Given the description of an element on the screen output the (x, y) to click on. 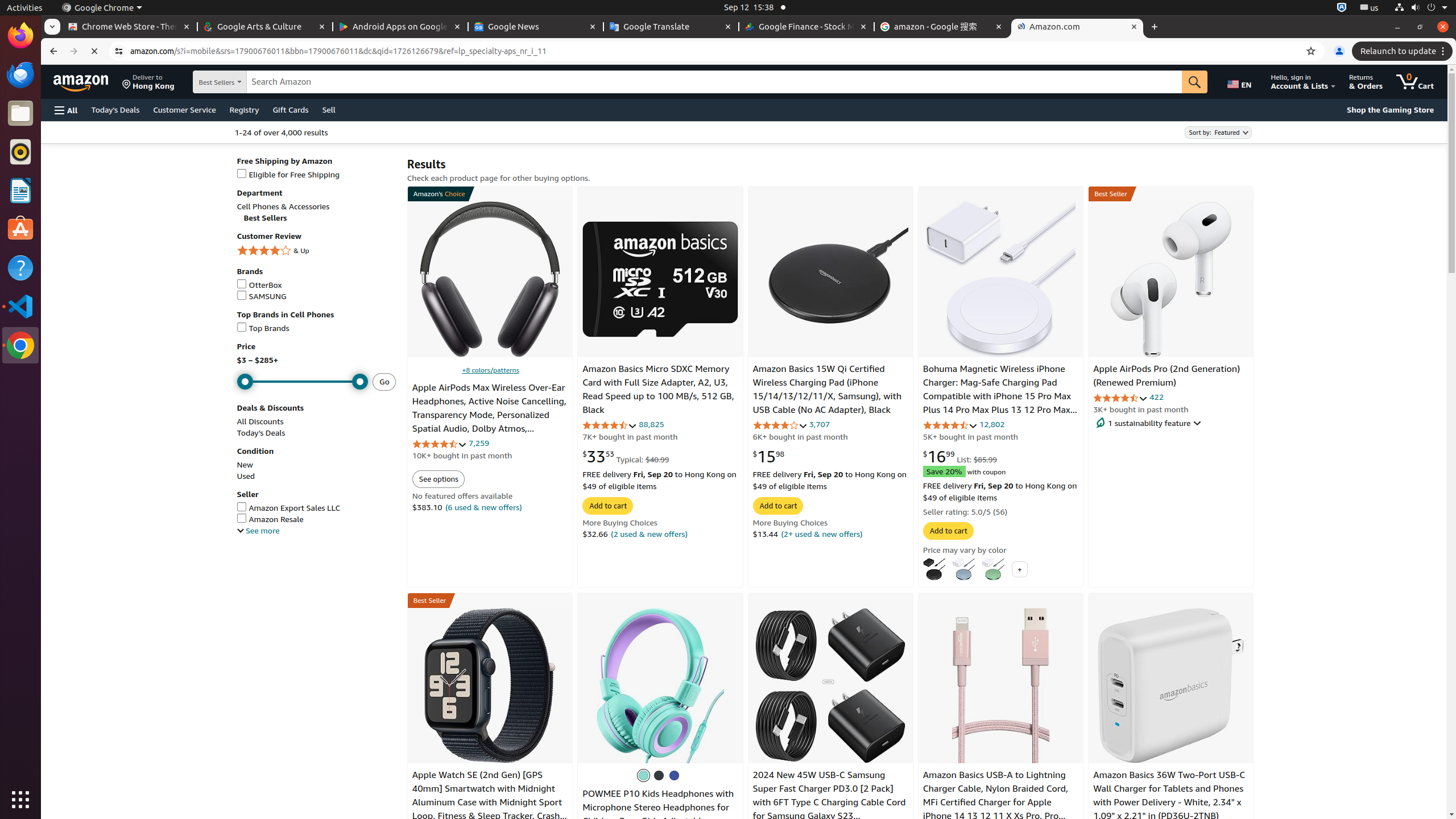
Amazon Basics 36W Two-Port USB-C Wall Charger for Tablets and Phones with Power Delivery - White, 2.34" x 1.09" x 2.21" in... Element type: link (1170, 685)
Returns & Orders Element type: link (1365, 81)
Bohuma Magnetic Wireless iPhone Charger: Mag-Safe Charging Pad Compatible with iPhone 15 Pro Max Plus 14 Pro Max Plus 13 1... Element type: link (1000, 279)
SAMSUNG Element type: list-item (315, 296)
Go - Submit price range Element type: push-button (384, 381)
